Given the description of an element on the screen output the (x, y) to click on. 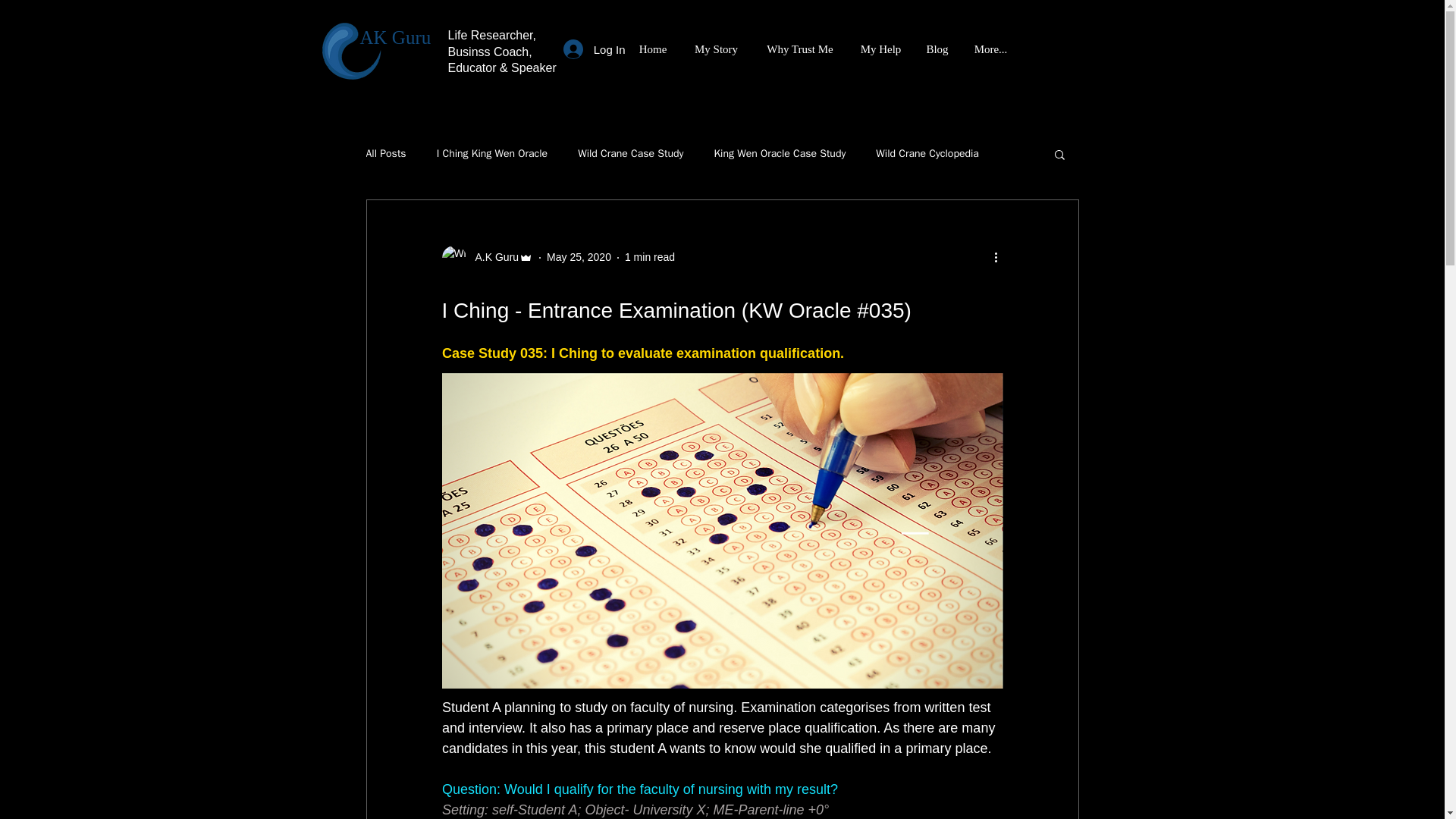
A.K Guru (486, 257)
May 25, 2020 (579, 256)
1 min read (649, 256)
My Story (716, 48)
Wild Crane Cyclopedia (927, 153)
A.K Guru (491, 257)
Life Researcher,  (492, 34)
Home (651, 48)
All Posts (385, 153)
I Ching King Wen Oracle (492, 153)
